Given the description of an element on the screen output the (x, y) to click on. 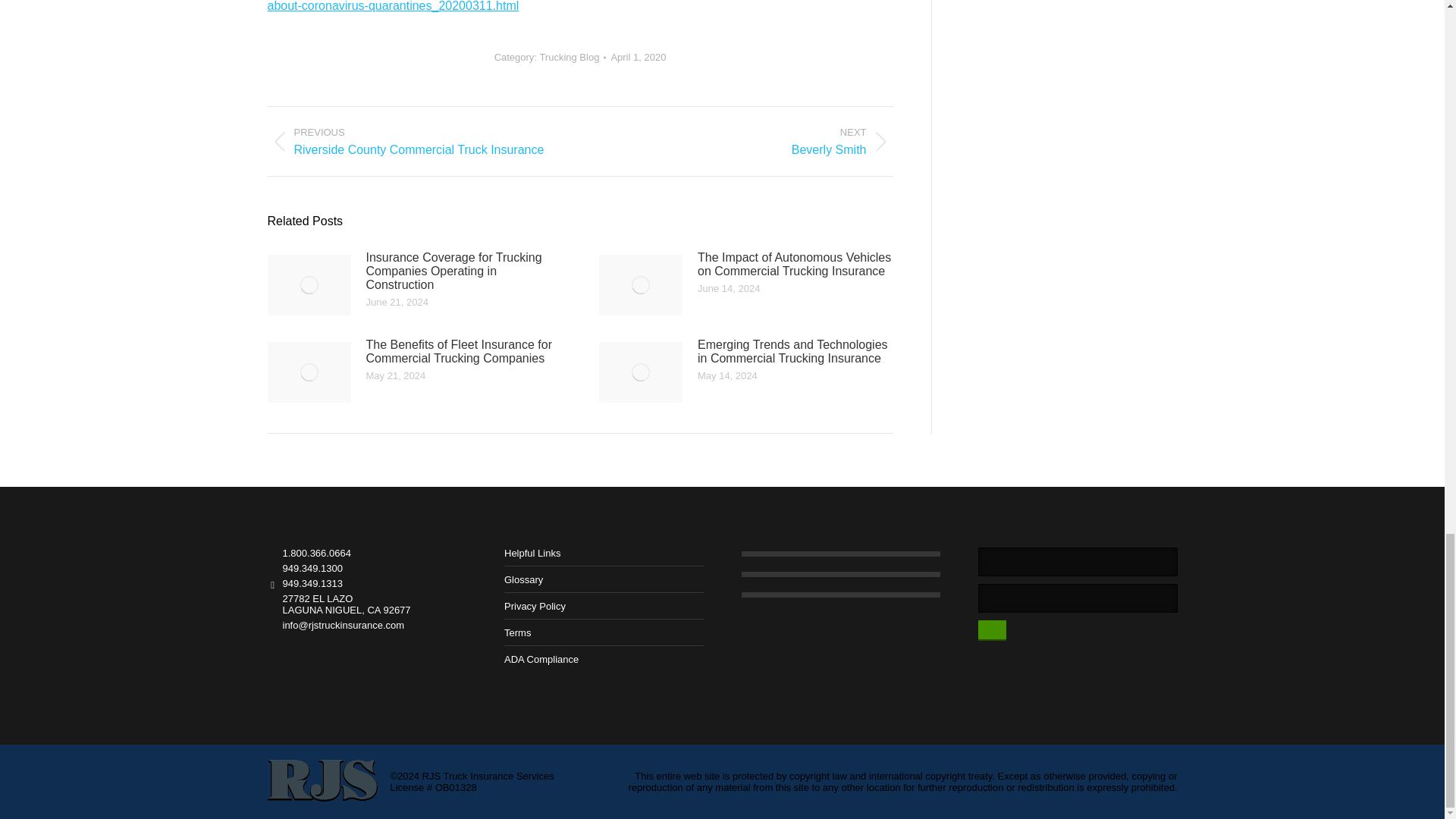
submit (1028, 630)
5:21 pm (637, 57)
April 1, 2020 (637, 57)
Trucking Blog (568, 57)
